Given the description of an element on the screen output the (x, y) to click on. 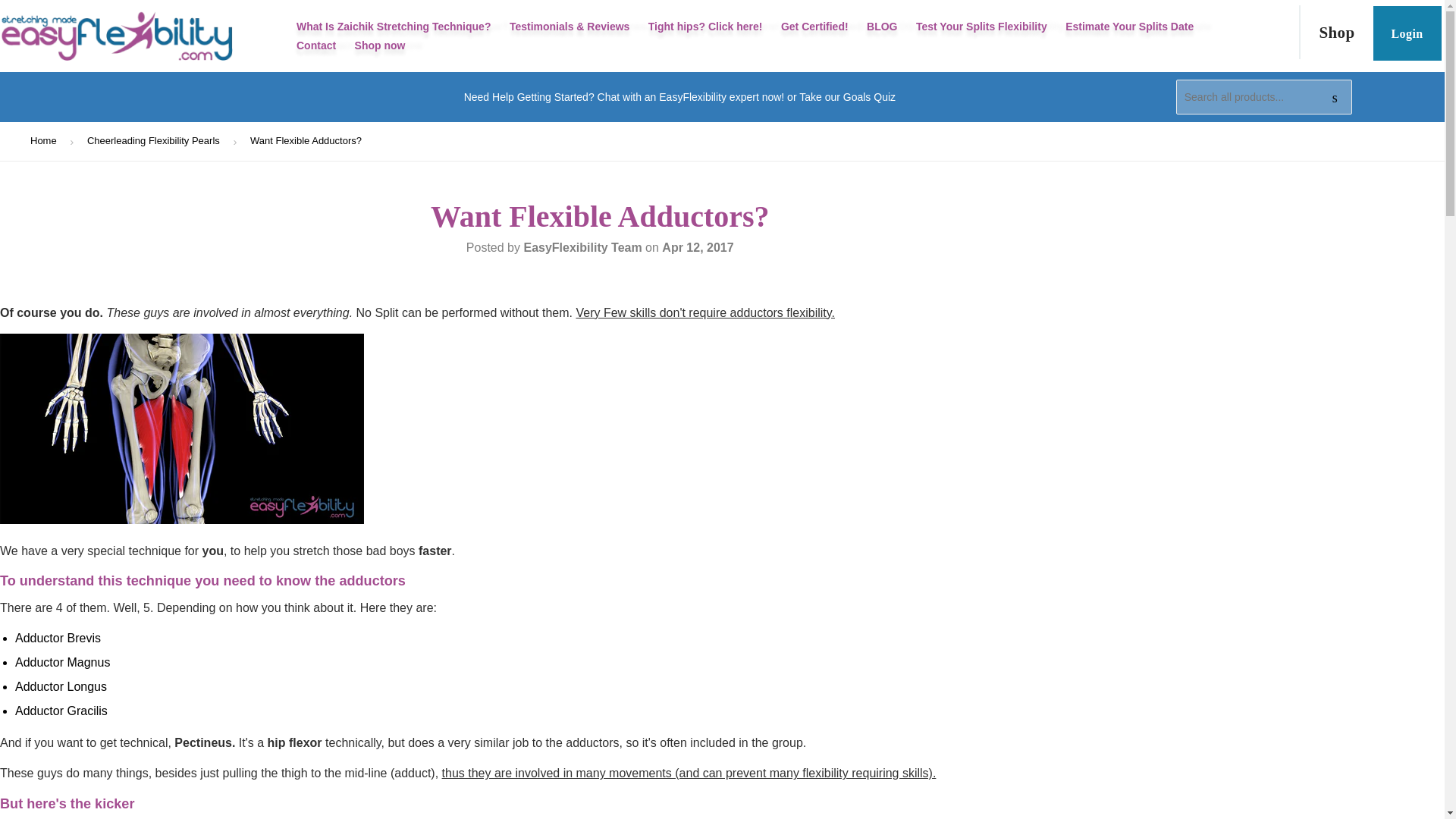
Contact (315, 45)
Estimate Your Splits Date (1129, 26)
BLOG (881, 26)
Cheerleading Flexibility Pearls (156, 141)
Test Your Splits Flexibility (981, 26)
Get Certified! (814, 26)
Shop (1335, 31)
What Is Zaichik Stretching Technique? (392, 26)
Login (1407, 33)
Shop now (380, 45)
